Given the description of an element on the screen output the (x, y) to click on. 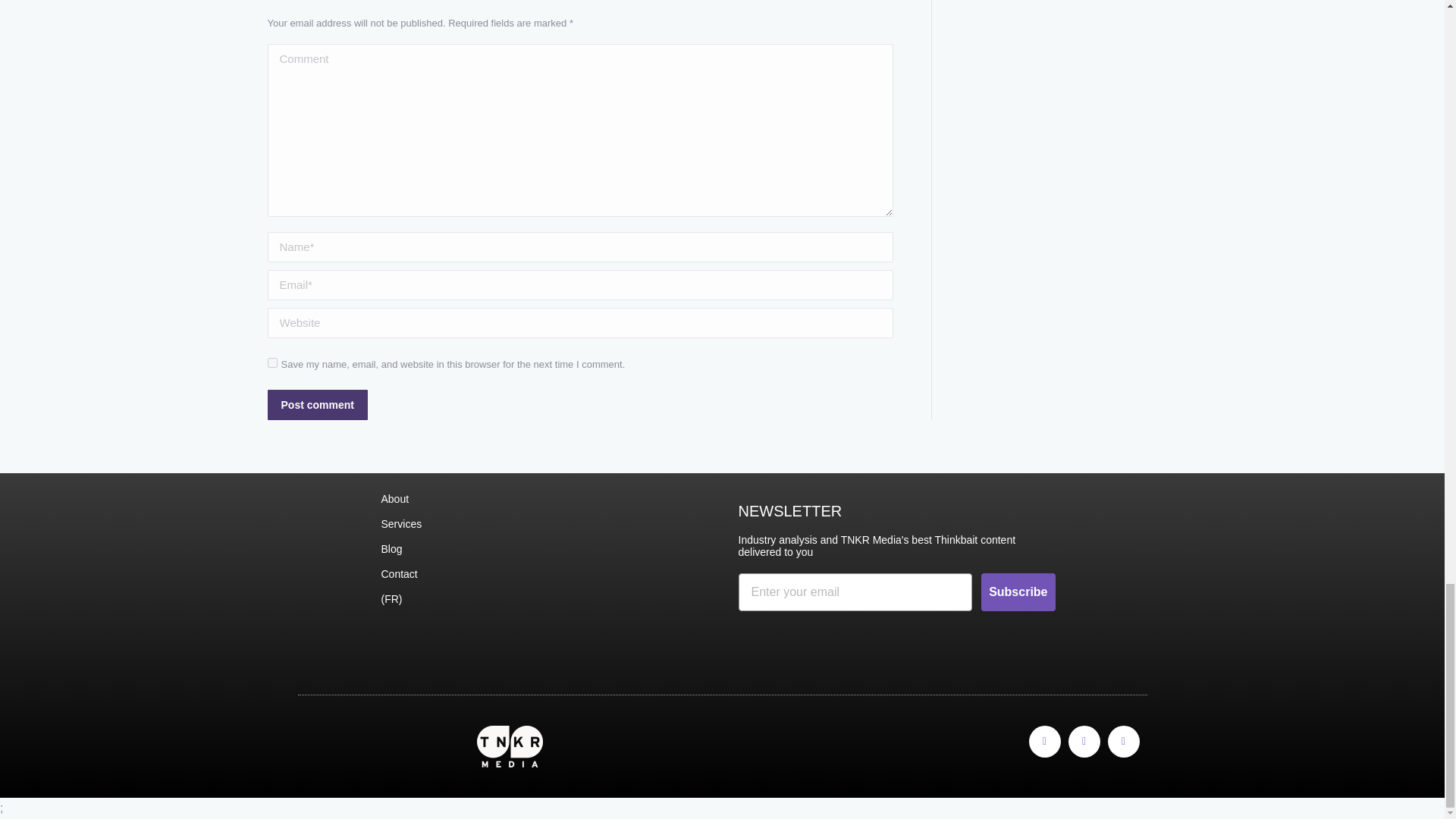
yes (271, 361)
